Given the description of an element on the screen output the (x, y) to click on. 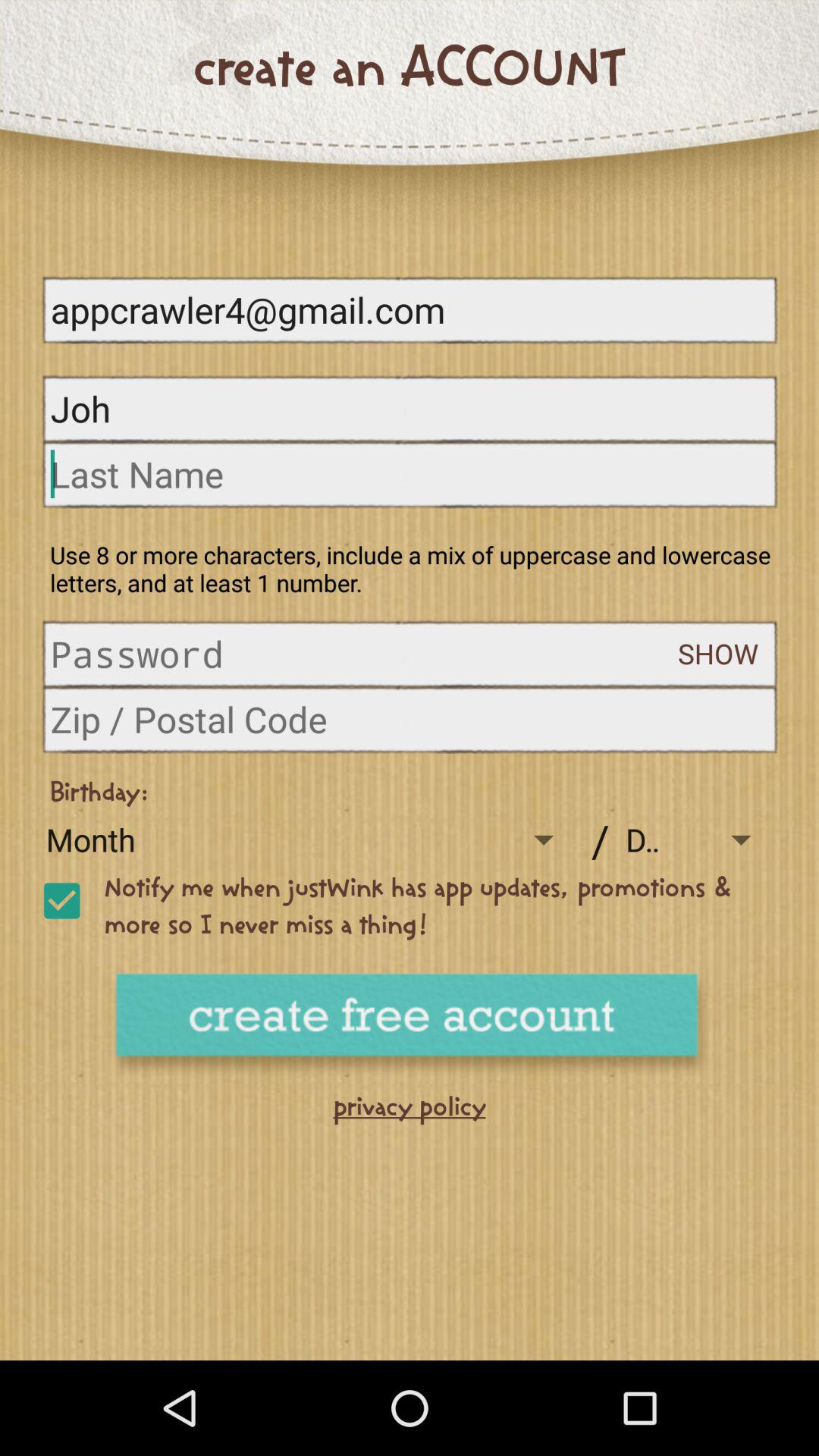
enter last name box (409, 473)
